Given the description of an element on the screen output the (x, y) to click on. 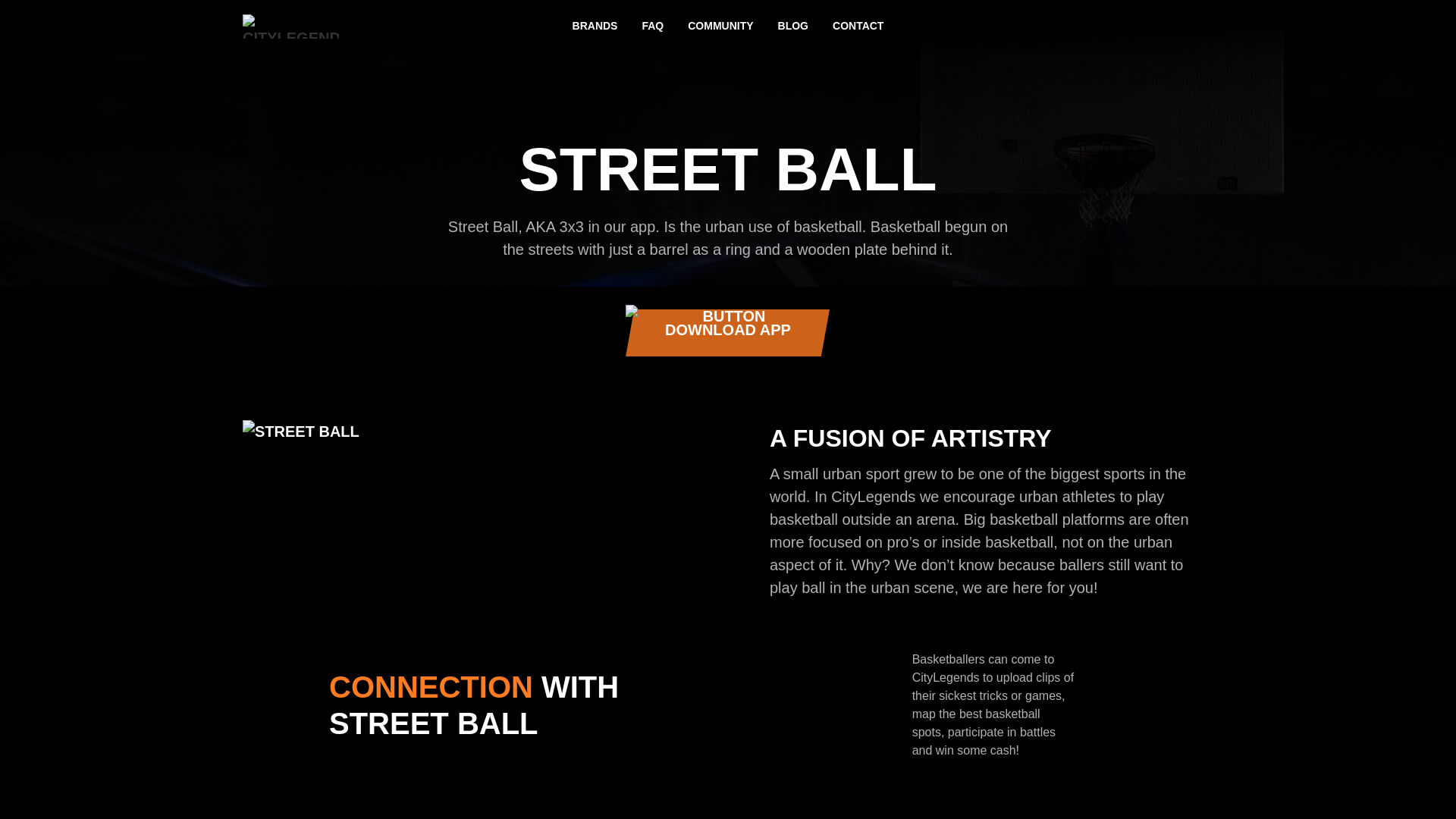
BRANDS (595, 26)
COMMUNITY (720, 26)
DOWNLOAD APP (727, 332)
CONTACT (858, 26)
BLOG (793, 26)
FAQ (651, 26)
